Given the description of an element on the screen output the (x, y) to click on. 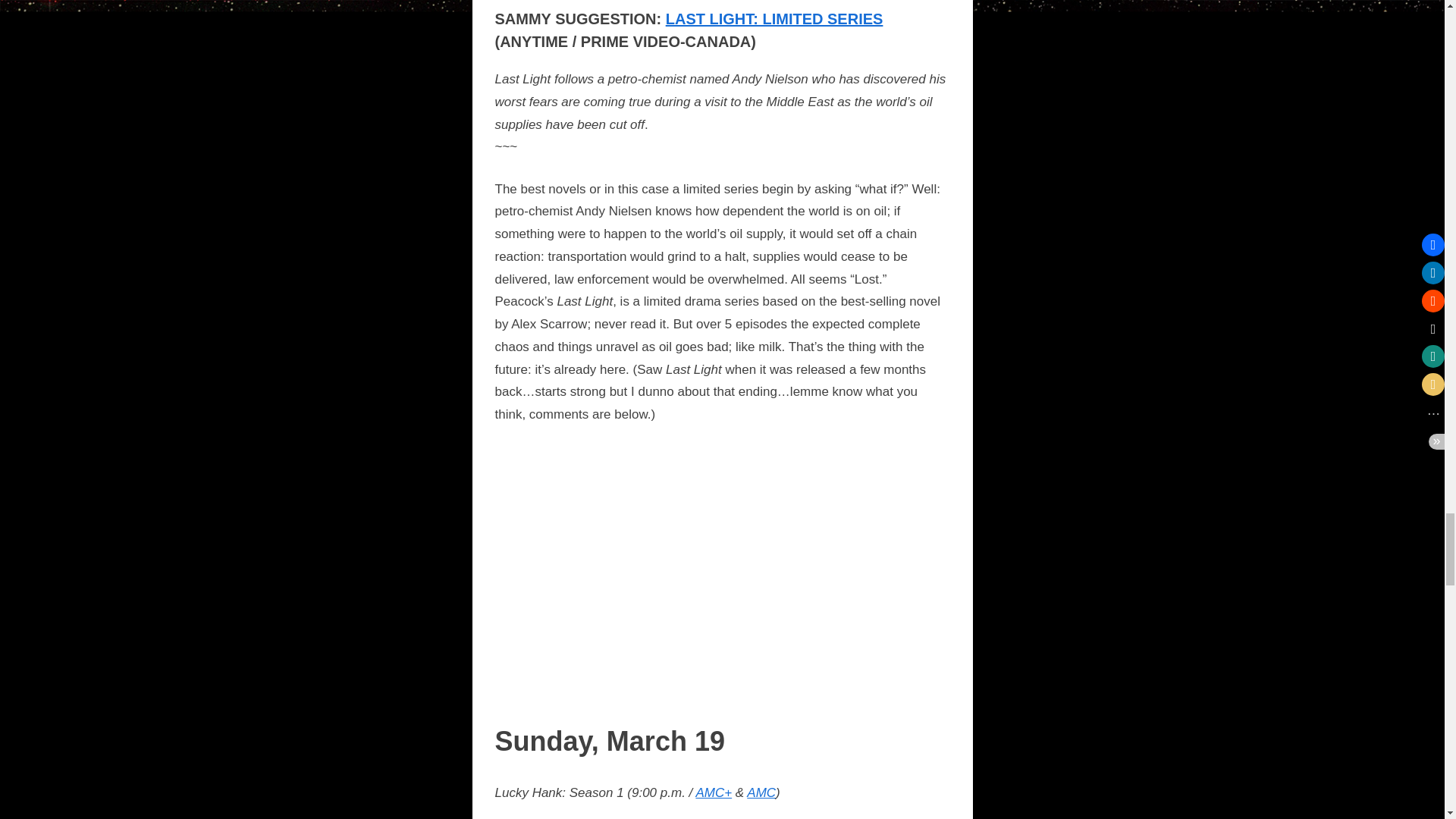
LAST LIGHT: LIMITED SERIES (774, 18)
AMC (761, 792)
Last Light Limited Series Trailer (722, 573)
